Given the description of an element on the screen output the (x, y) to click on. 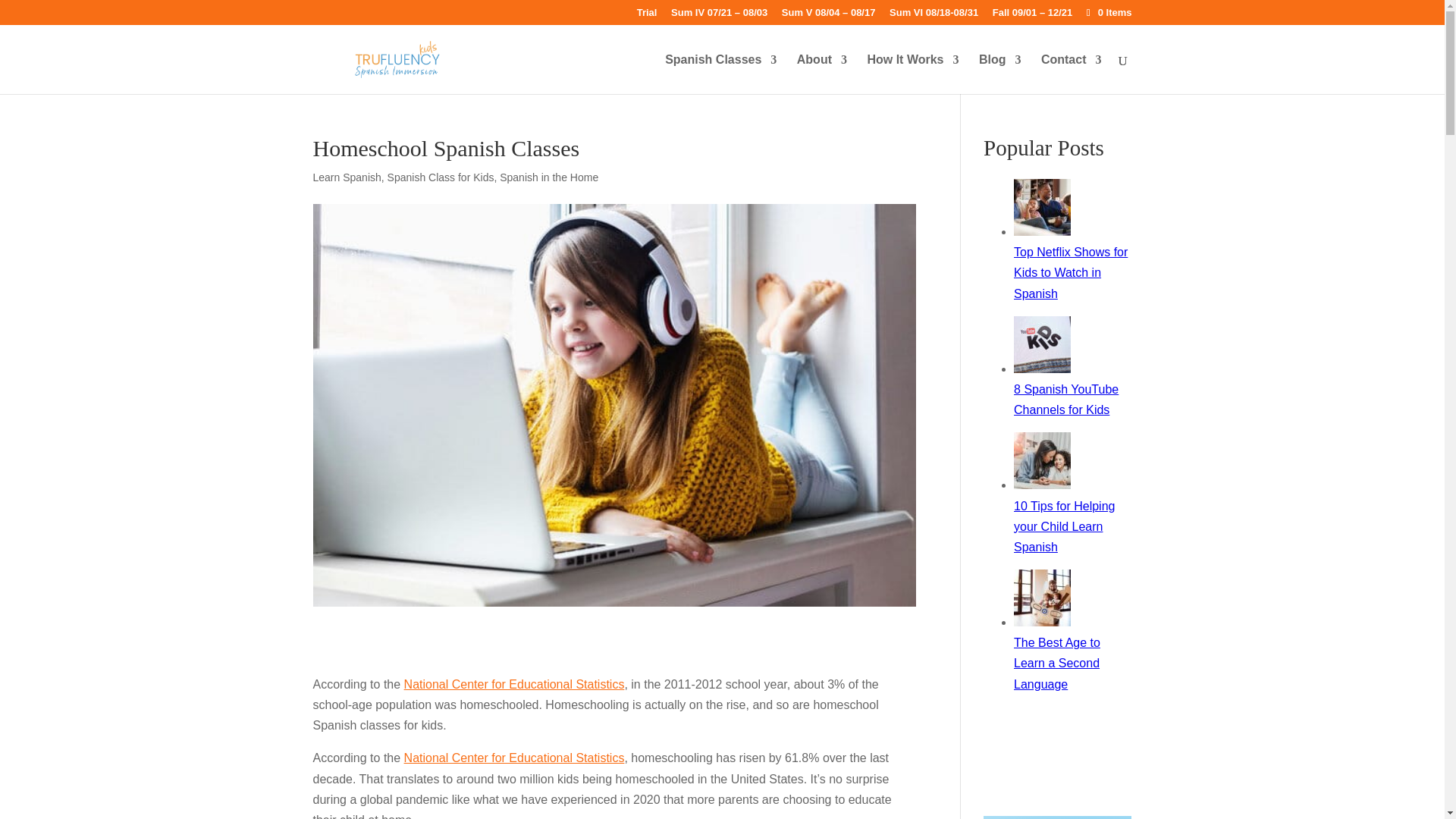
Spanish Classes (720, 74)
Trial (647, 16)
About (821, 74)
0 Items (1107, 12)
